Given the description of an element on the screen output the (x, y) to click on. 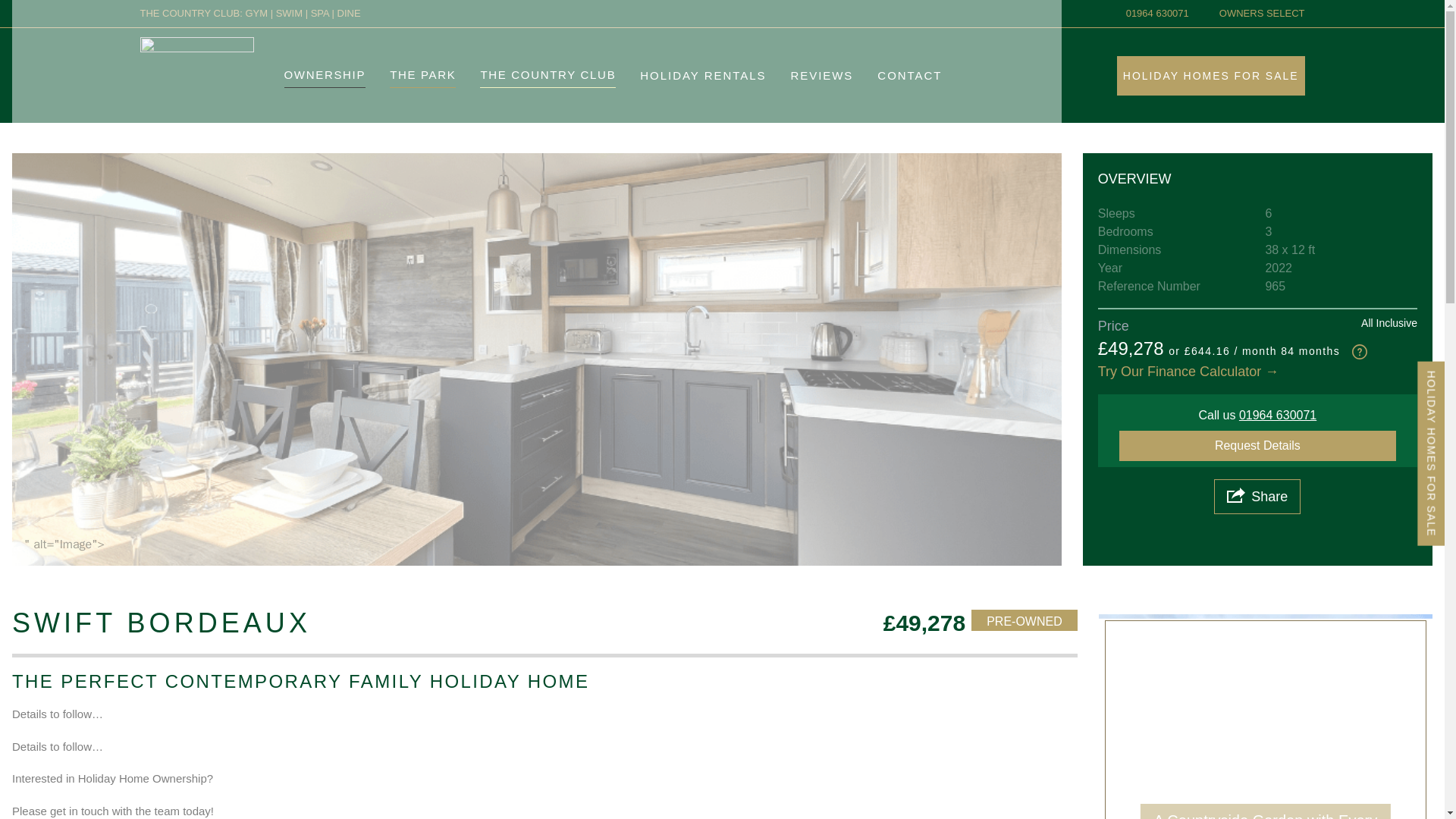
THE PARK (422, 74)
OWNERSHIP (324, 74)
OWNERS SELECT (1262, 13)
01964 630071 (1157, 13)
